Given the description of an element on the screen output the (x, y) to click on. 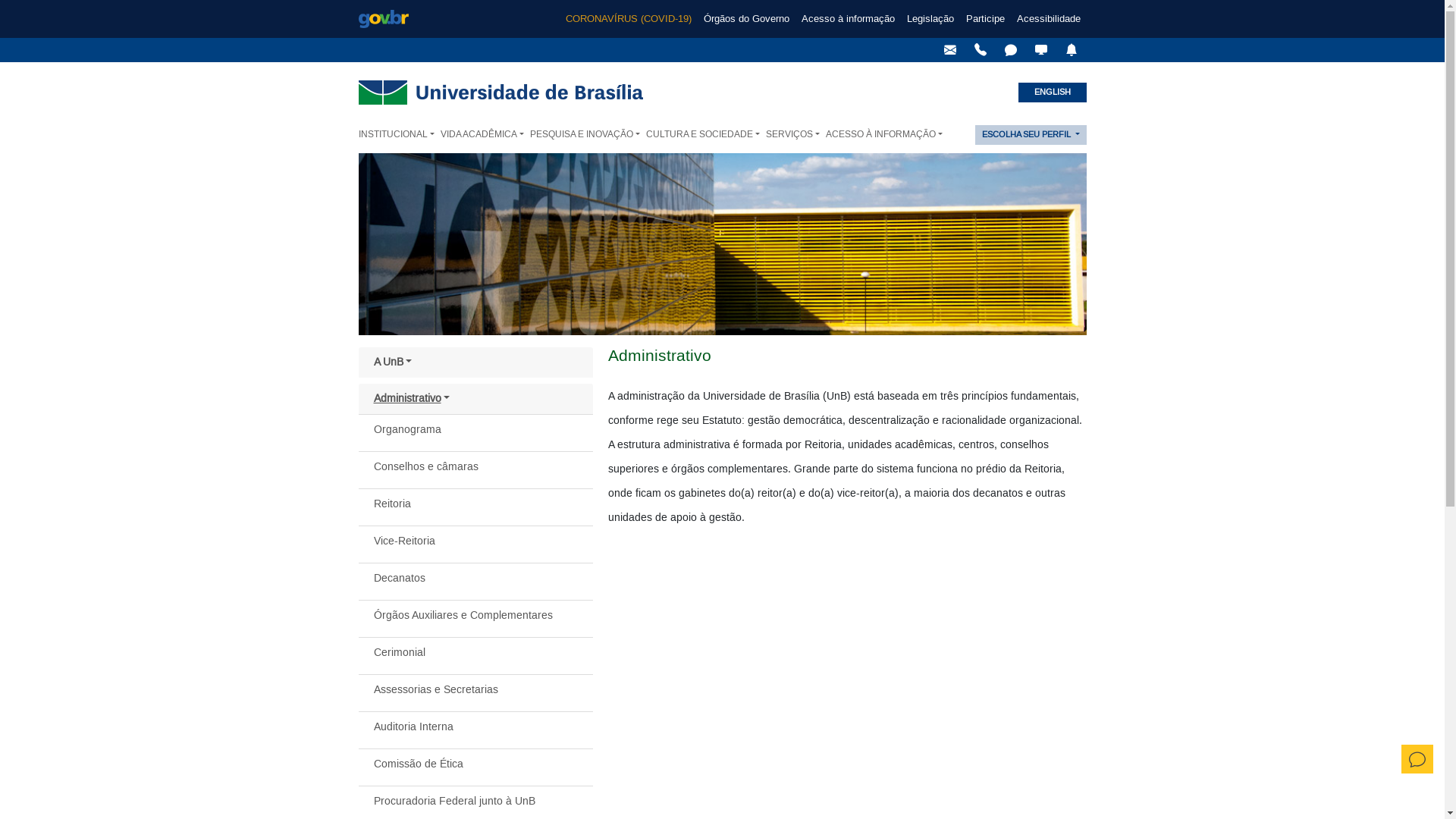
Participe Element type: text (985, 18)
Acessibilidade Element type: text (1047, 18)
Organograma Element type: text (475, 429)
Reitoria Element type: text (475, 503)
INSTITUCIONAL Element type: text (398, 134)
ENGLISH Element type: text (1051, 92)
Pular menu lateral Element type: text (406, 346)
Email Institucional Element type: hover (949, 49)
Auditoria Interna Element type: text (475, 726)
Sistemas UnB Element type: hover (1040, 49)
Decanatos Element type: text (475, 577)
Fala BR Element type: hover (1009, 49)
UnB Muito Prazer Element type: hover (979, 49)
ESCOLHA SEU PERFIL Element type: text (1030, 135)
Administrativo Element type: text (475, 398)
A UnB Element type: text (475, 362)
Portal Gov.br Element type: hover (382, 18)
Assessorias e Secretarias Element type: text (475, 689)
Comente o Portal Element type: hover (1417, 758)
Vice-Reitoria Element type: text (475, 540)
CULTURA E SOCIEDADE Element type: text (705, 134)
Cerimonial Element type: text (475, 652)
